Given the description of an element on the screen output the (x, y) to click on. 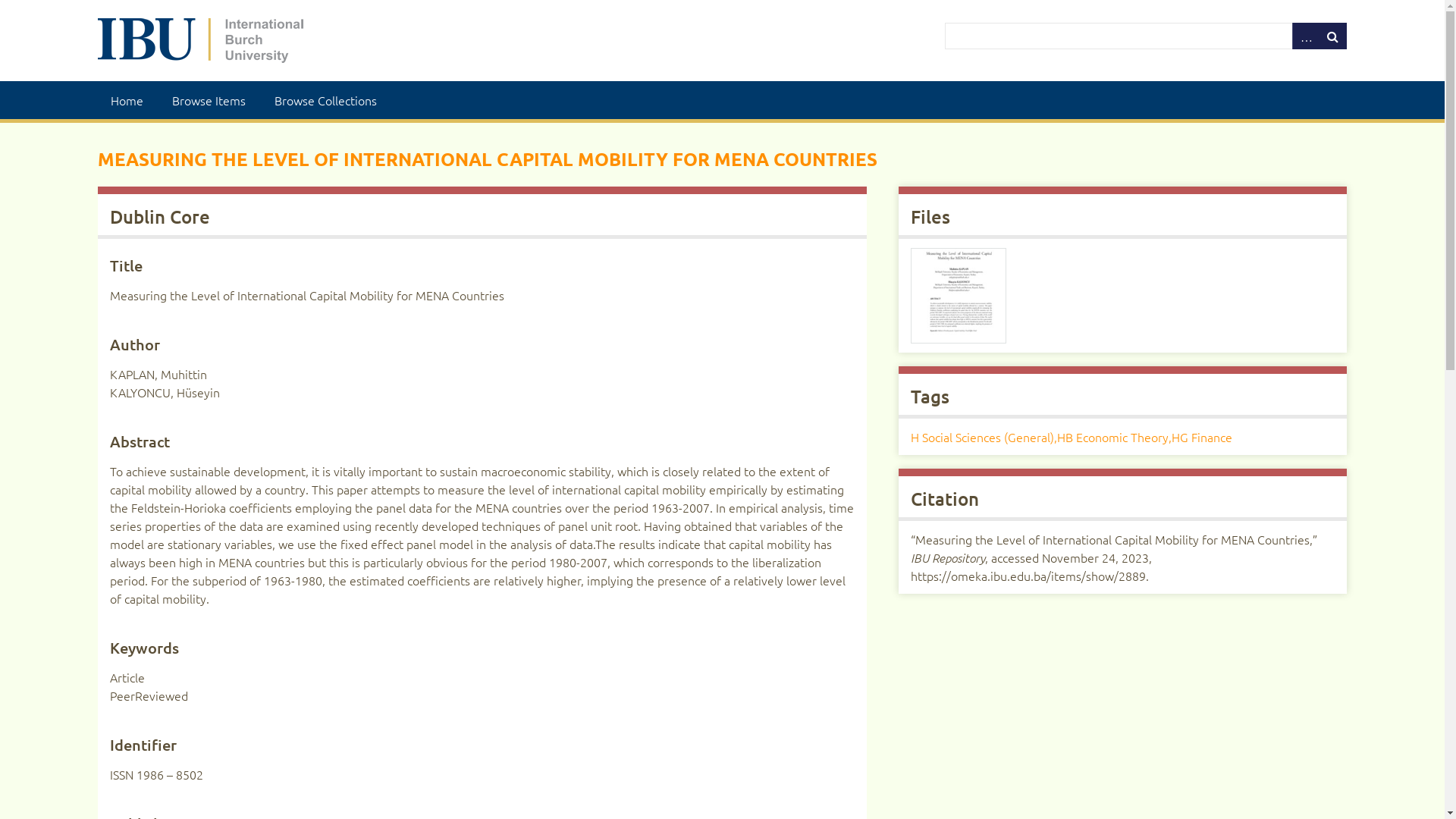
ADVANCED SEARCH Element type: text (1305, 35)
Home Element type: text (126, 100)
vol1-no1-p25-32.pdf Element type: hover (958, 295)
Search Element type: hover (1145, 35)
Browse Collections Element type: text (325, 100)
H Social Sciences (General),HB Economic Theory,HG Finance Element type: text (1071, 436)
Browse Items Element type: text (208, 100)
SEARCH Element type: text (1332, 35)
